Given the description of an element on the screen output the (x, y) to click on. 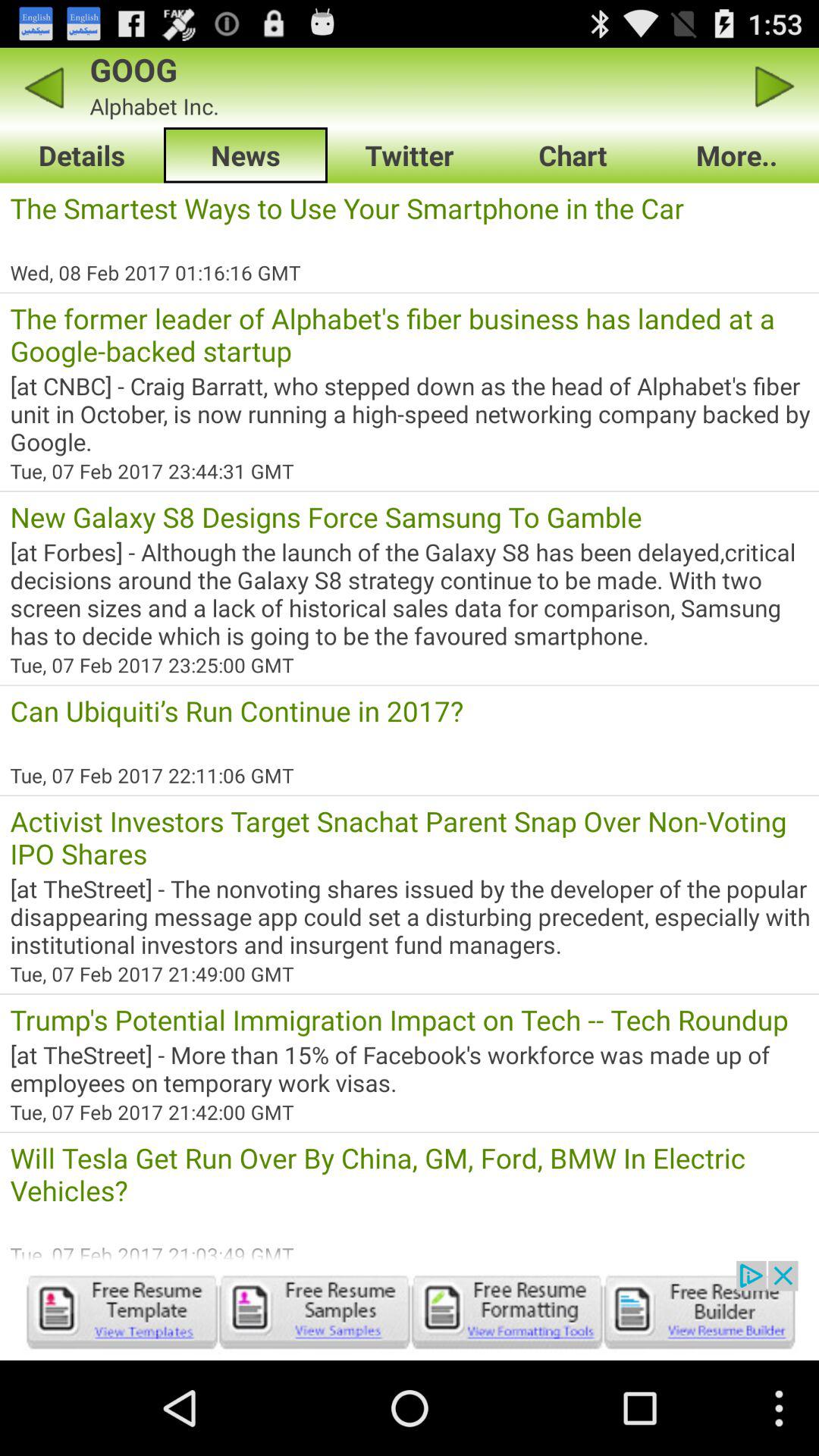
go back to last page (43, 87)
